Given the description of an element on the screen output the (x, y) to click on. 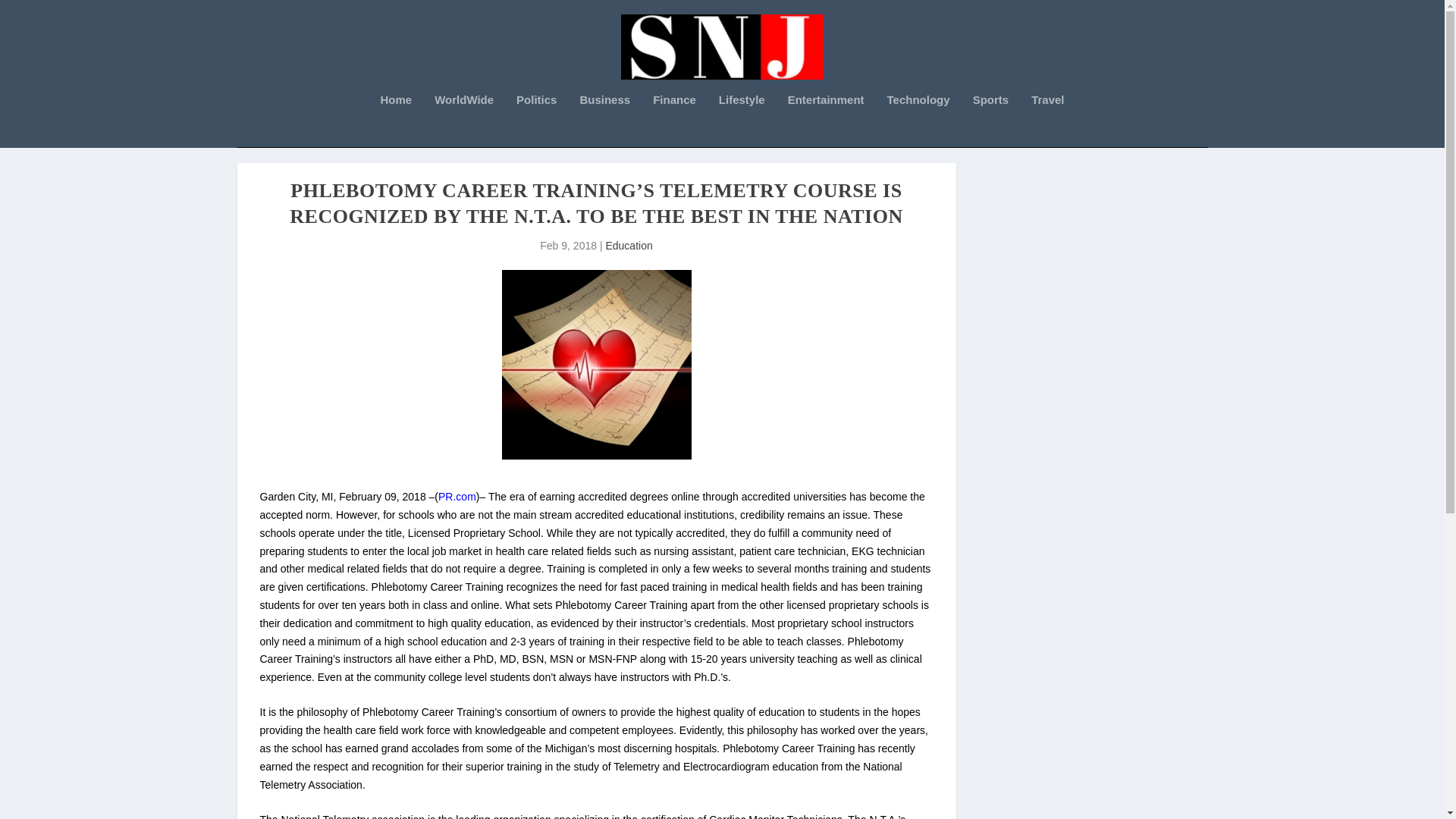
Finance (673, 120)
Entertainment (825, 120)
Lifestyle (742, 120)
Travel (1047, 120)
Home (396, 120)
Education (628, 245)
Technology (918, 120)
Politics (536, 120)
PR.com (457, 496)
WorldWide (463, 120)
Sports (990, 120)
Business (604, 120)
